Given the description of an element on the screen output the (x, y) to click on. 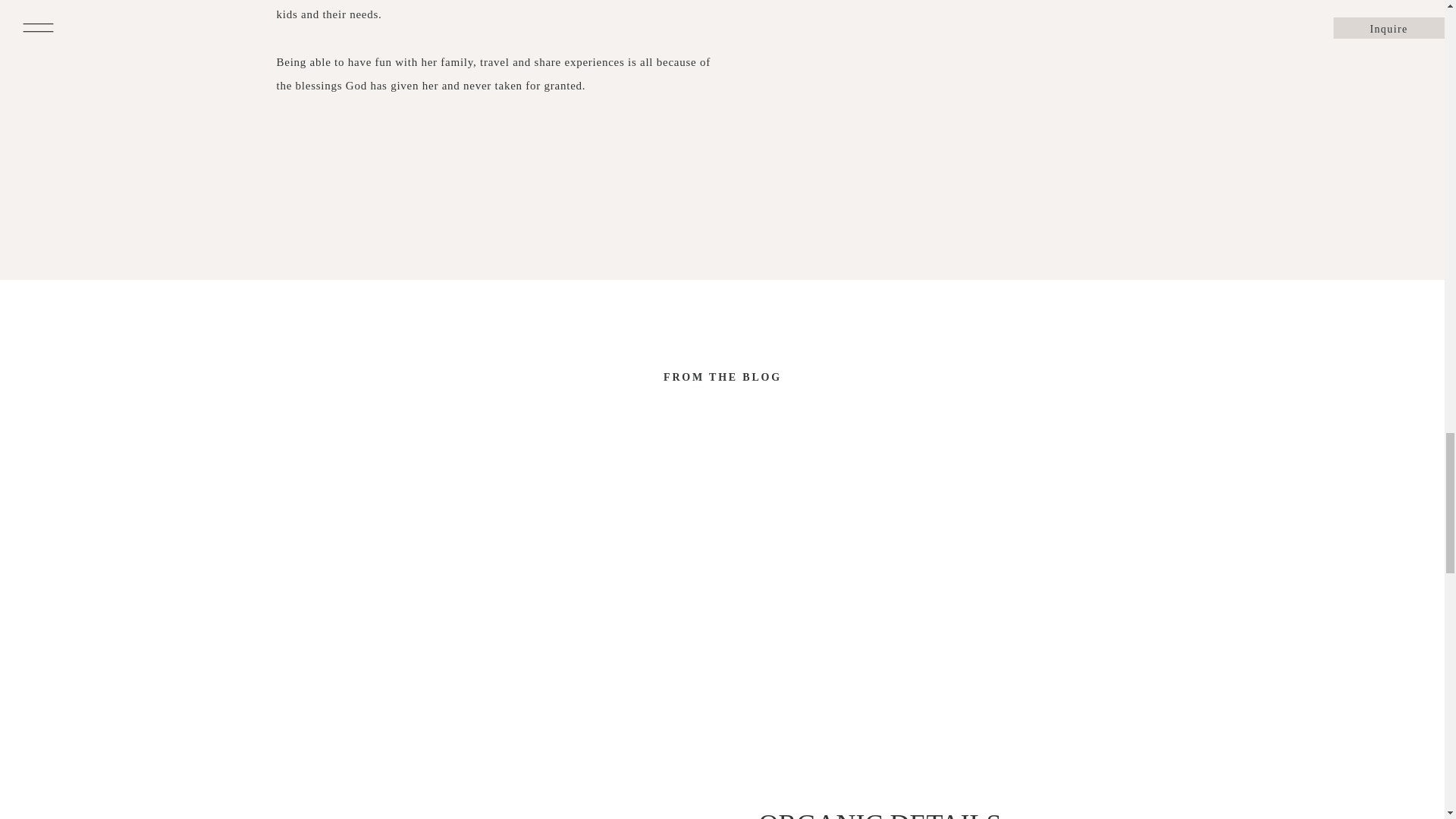
ORGANIC DETAILS (905, 812)
